Given the description of an element on the screen output the (x, y) to click on. 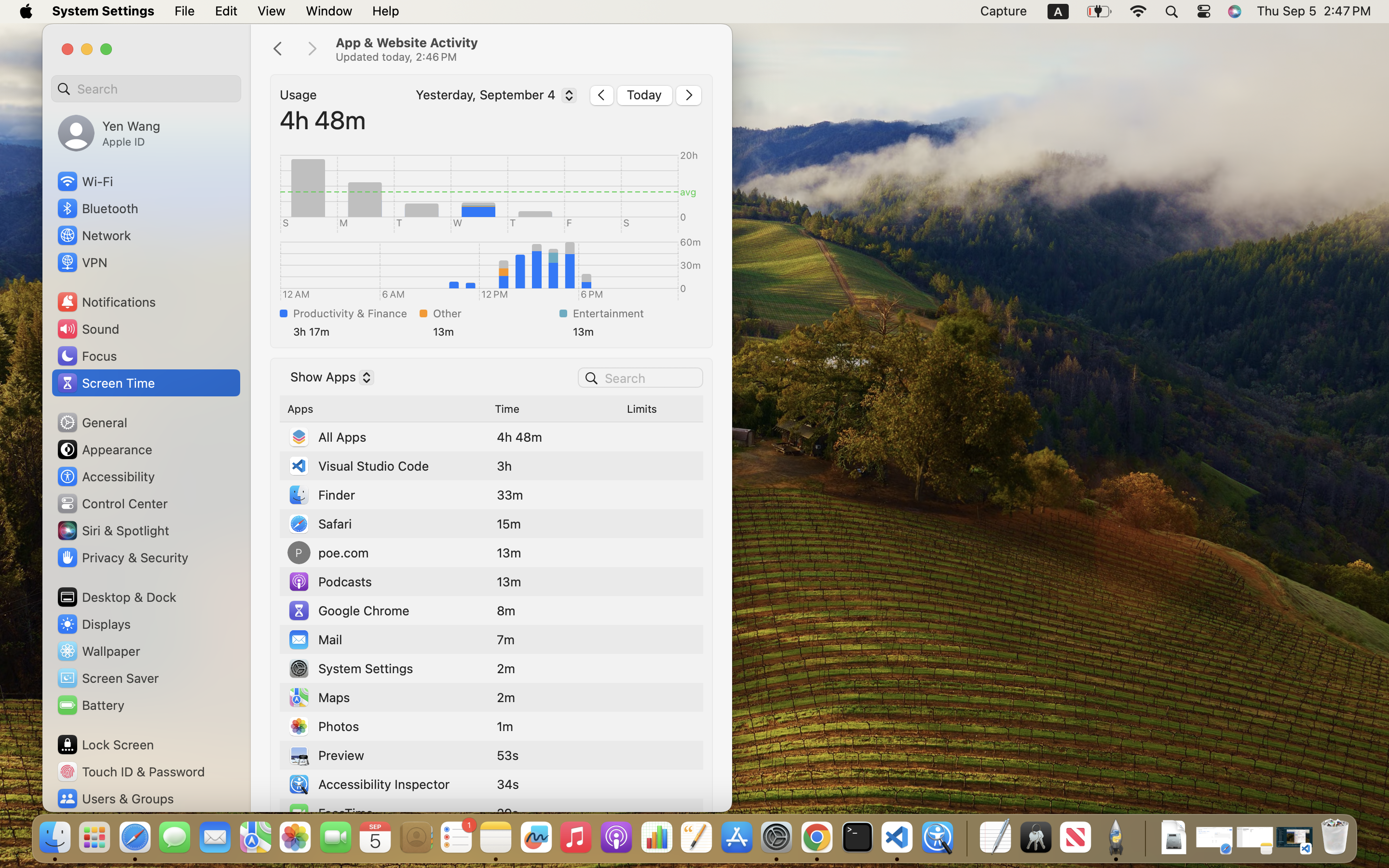
3h Element type: AXStaticText (504, 465)
Screen Time Element type: AXStaticText (105, 382)
Entertainment Element type: AXStaticText (634, 313)
Mail Element type: AXStaticText (314, 639)
Siri & Spotlight Element type: AXStaticText (111, 530)
